Given the description of an element on the screen output the (x, y) to click on. 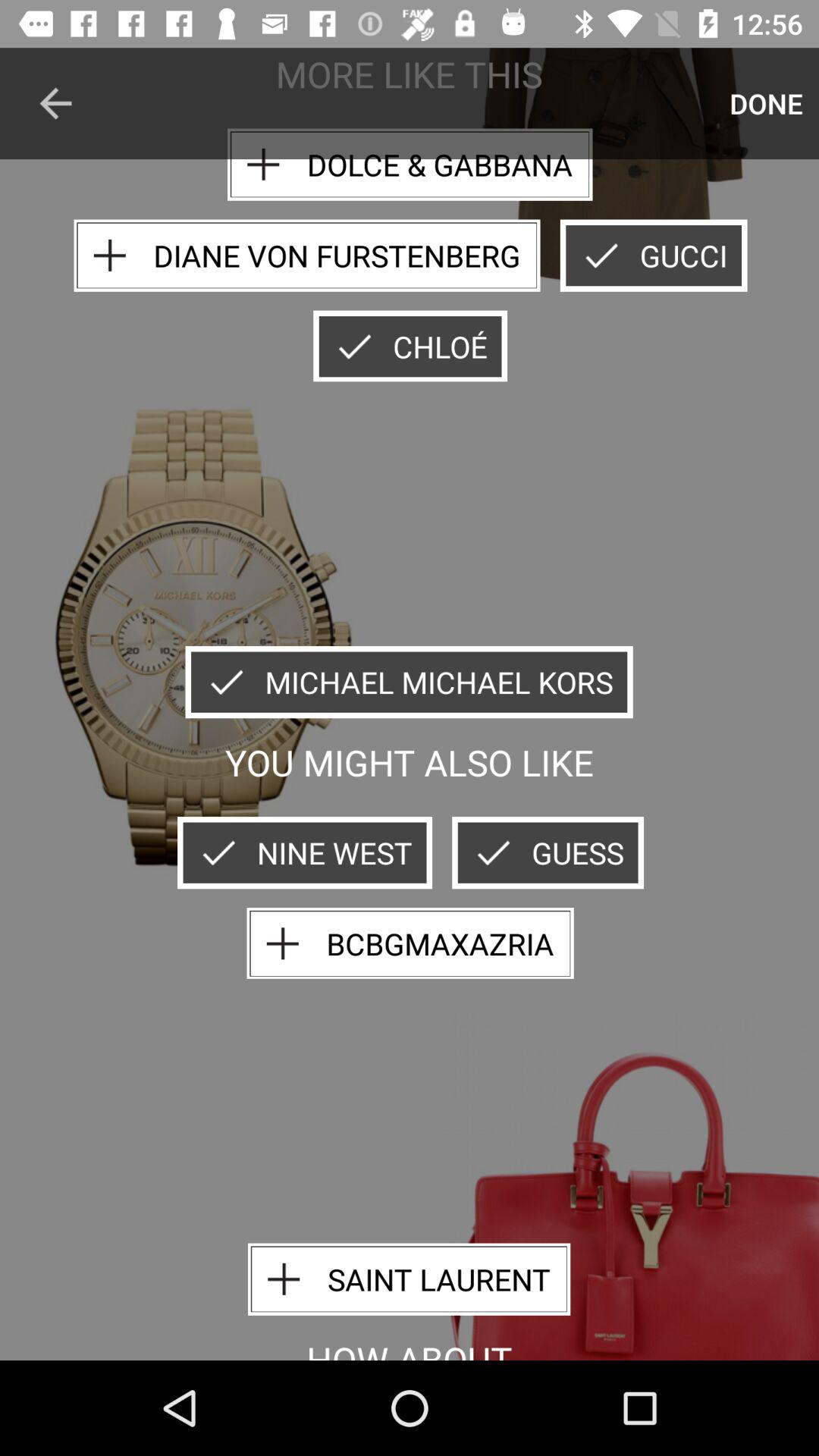
open the icon next to the dolce & gabbana icon (766, 103)
